Given the description of an element on the screen output the (x, y) to click on. 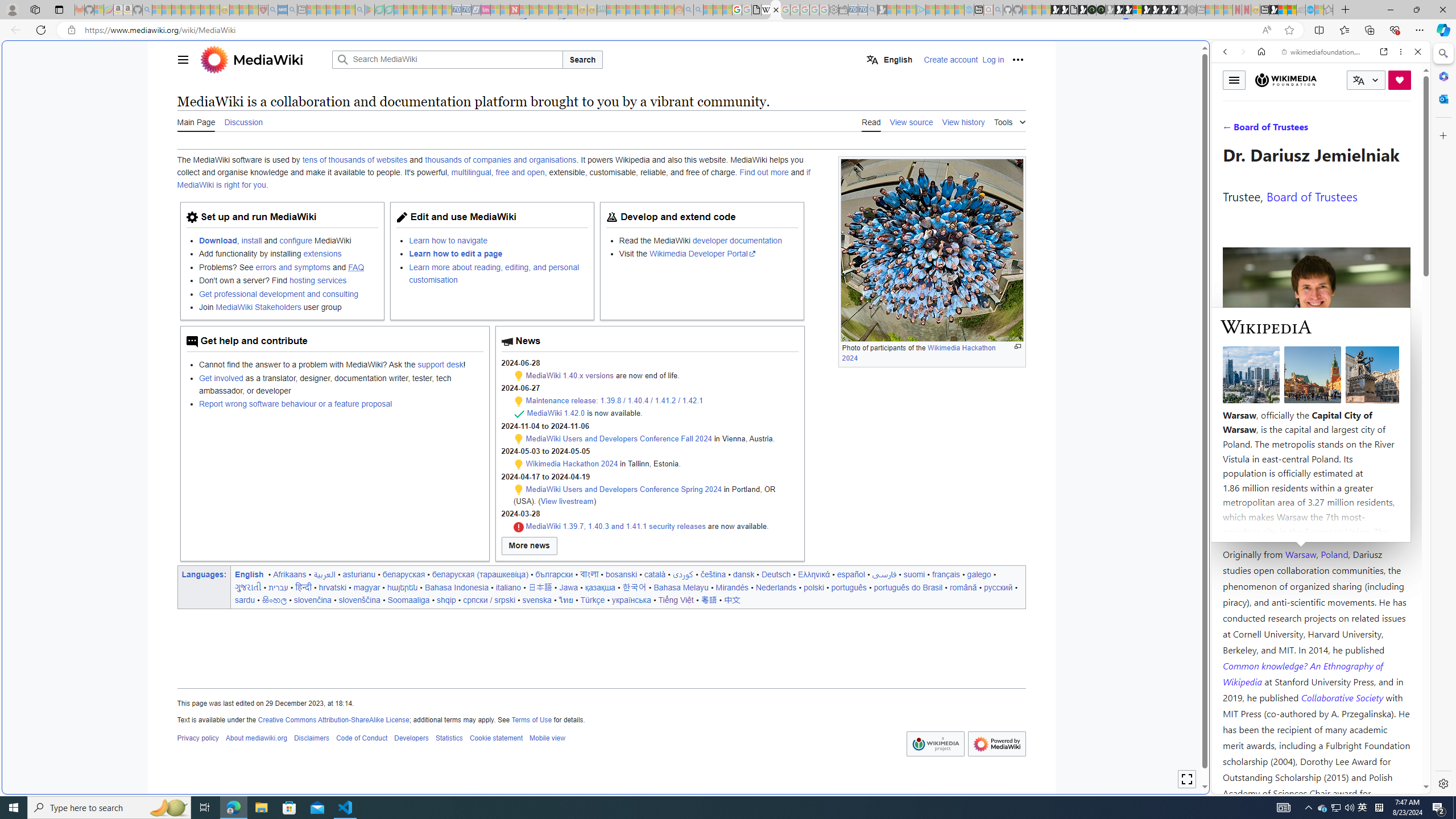
Profile on Meta-Wiki (1273, 405)
View history (963, 120)
Sign in to your account (1137, 9)
Common knowledge? An Ethnography of Wikipedia (1302, 672)
